Given the description of an element on the screen output the (x, y) to click on. 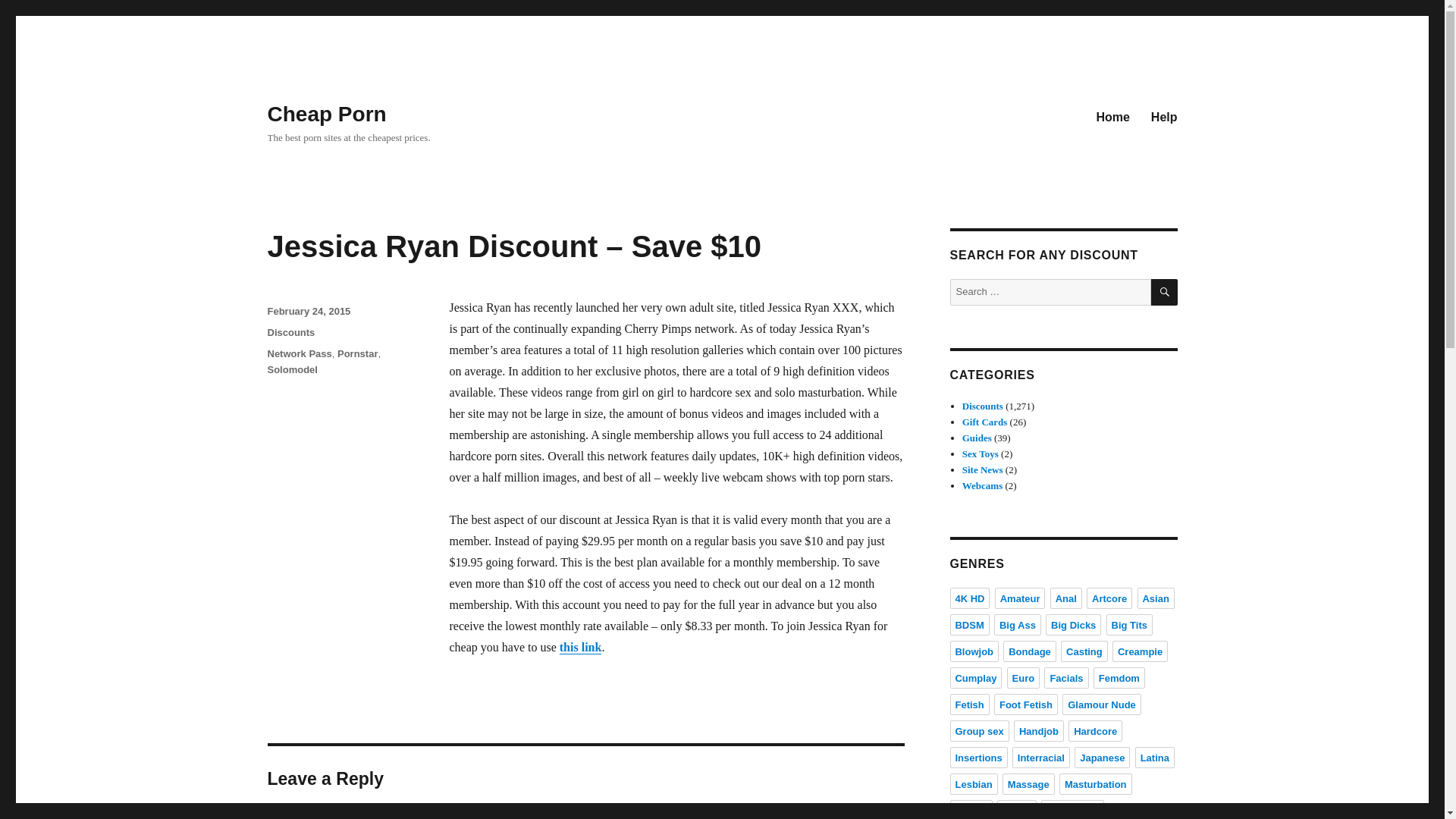
Webcams (982, 485)
SEARCH (1164, 292)
Discounts (290, 332)
BDSM (968, 624)
Big Tits (1129, 624)
Cumplay (975, 677)
Amateur (1019, 598)
Bondage (1030, 650)
Casting (1084, 650)
February 24, 2015 (308, 310)
Network Pass (298, 353)
this link (580, 646)
Sex Toys (980, 453)
Artcore (1109, 598)
Gift Cards (984, 421)
